Given the description of an element on the screen output the (x, y) to click on. 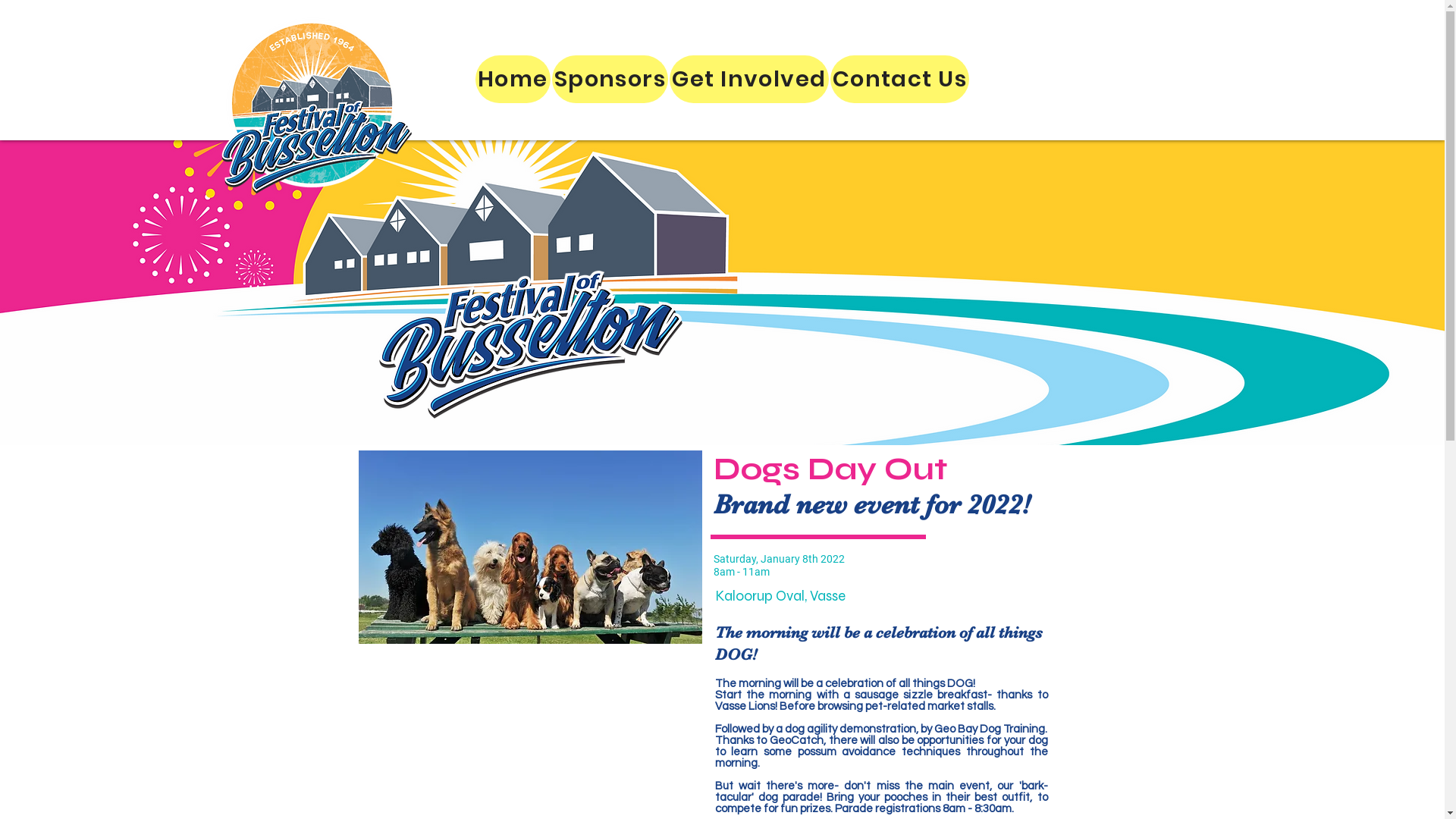
Get Involved Element type: text (748, 79)
Contact Us Element type: text (899, 79)
Home Element type: text (512, 79)
Sponsors Element type: text (610, 79)
